Given the description of an element on the screen output the (x, y) to click on. 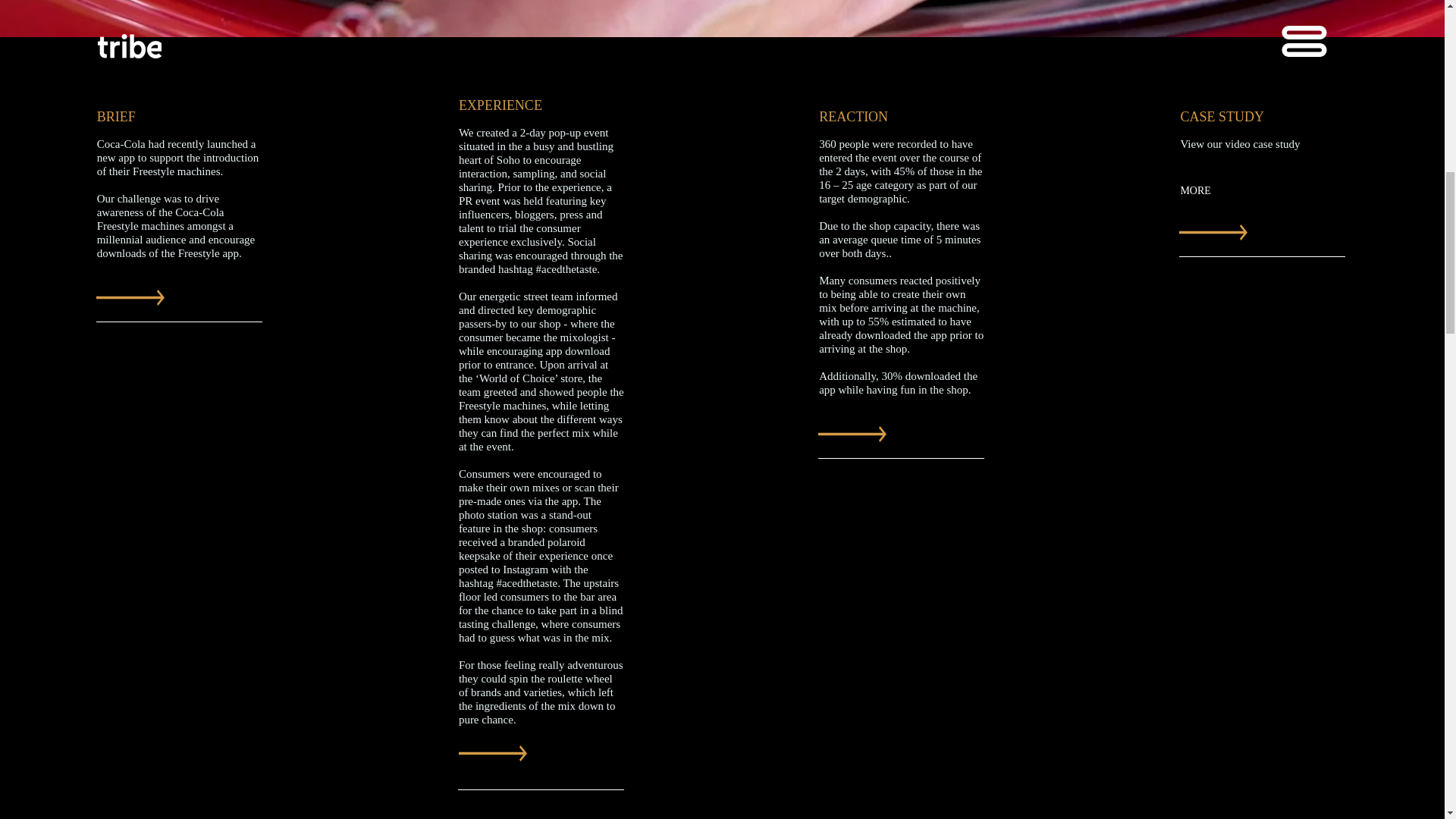
MORE (1195, 191)
